Given the description of an element on the screen output the (x, y) to click on. 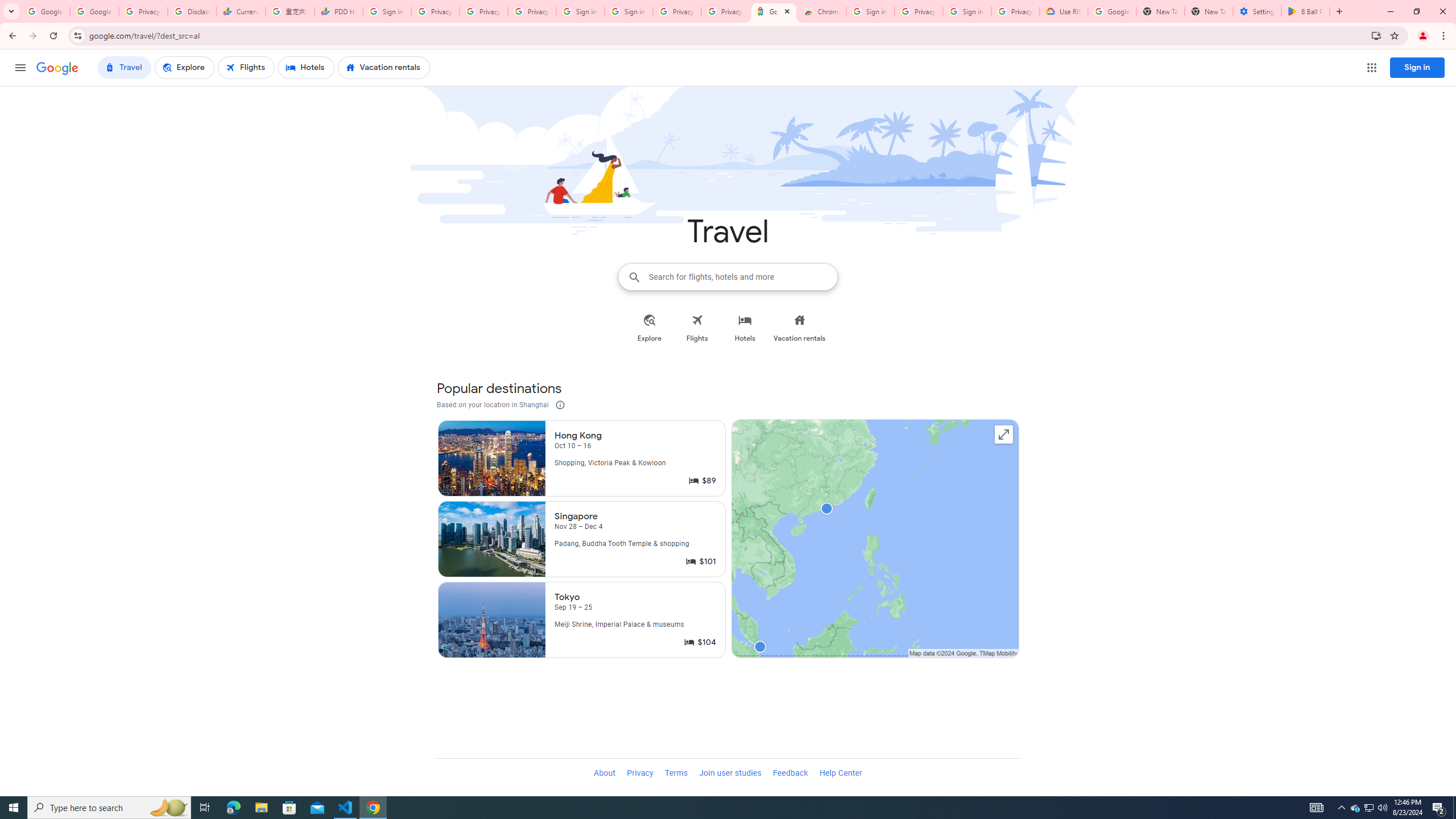
Privacy Checkup (483, 11)
Help Center (840, 773)
8 Ball Pool - Apps on Google Play (1305, 11)
Travel (124, 67)
Hotels (745, 328)
Currencies - Google Finance (240, 11)
